Given the description of an element on the screen output the (x, y) to click on. 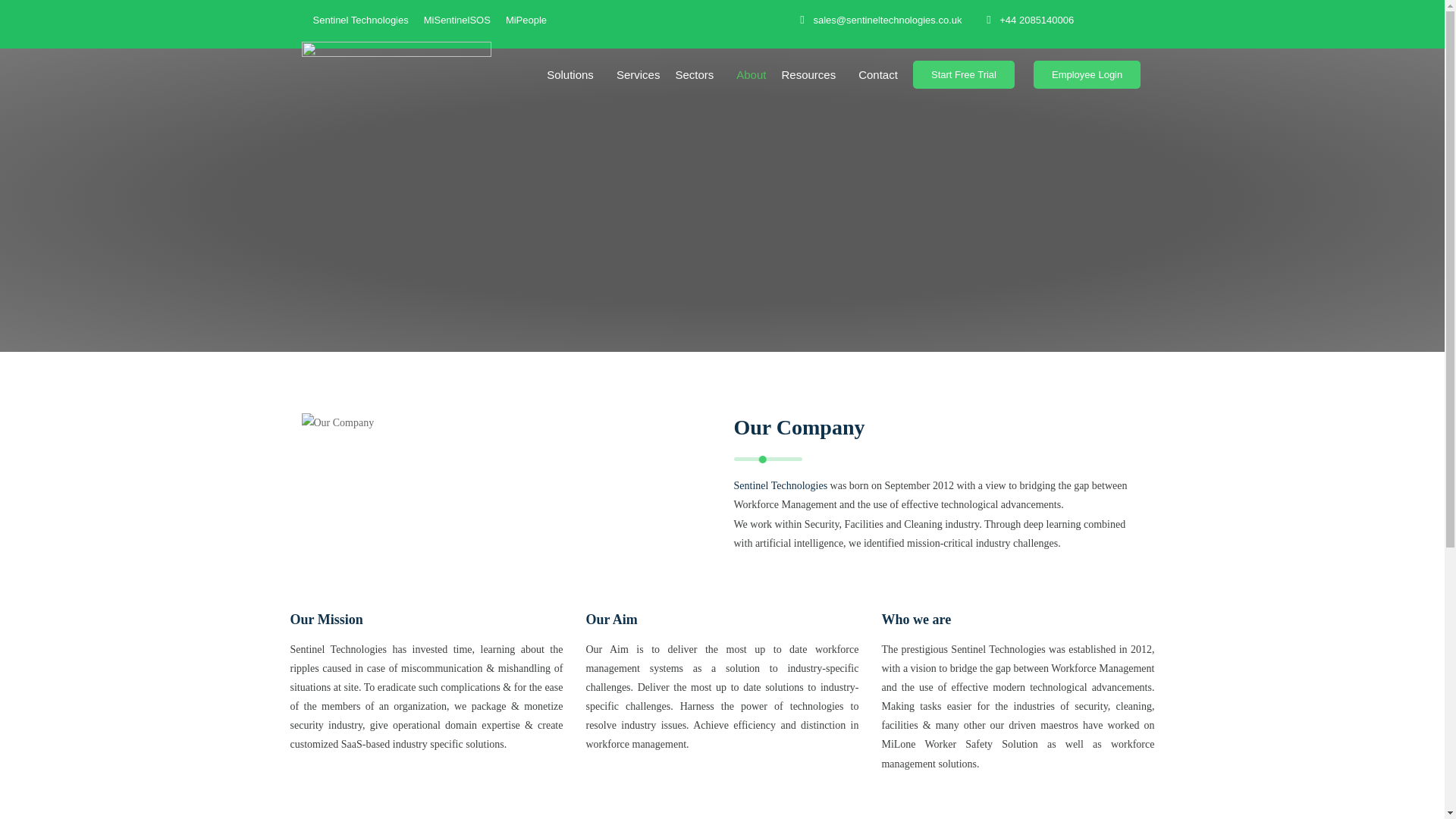
MiPeople (525, 21)
Sentinel Technologies (359, 21)
MiSentinelSOS (456, 21)
